Given the description of an element on the screen output the (x, y) to click on. 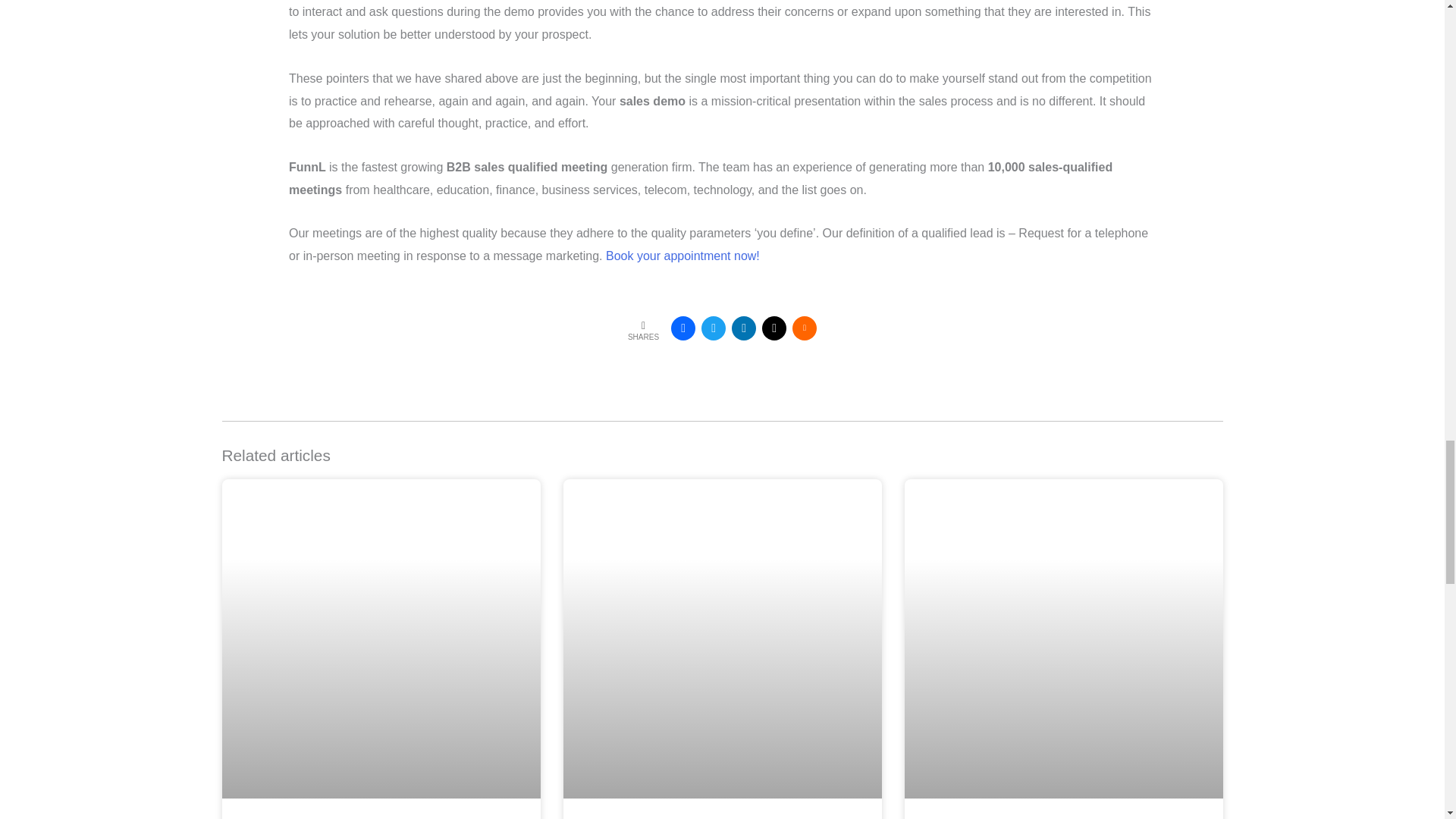
Add this to LinkedIn (743, 328)
Tweet this ! (713, 328)
More share links (804, 328)
Email this  (773, 328)
Share this on Facebook (683, 328)
